Given the description of an element on the screen output the (x, y) to click on. 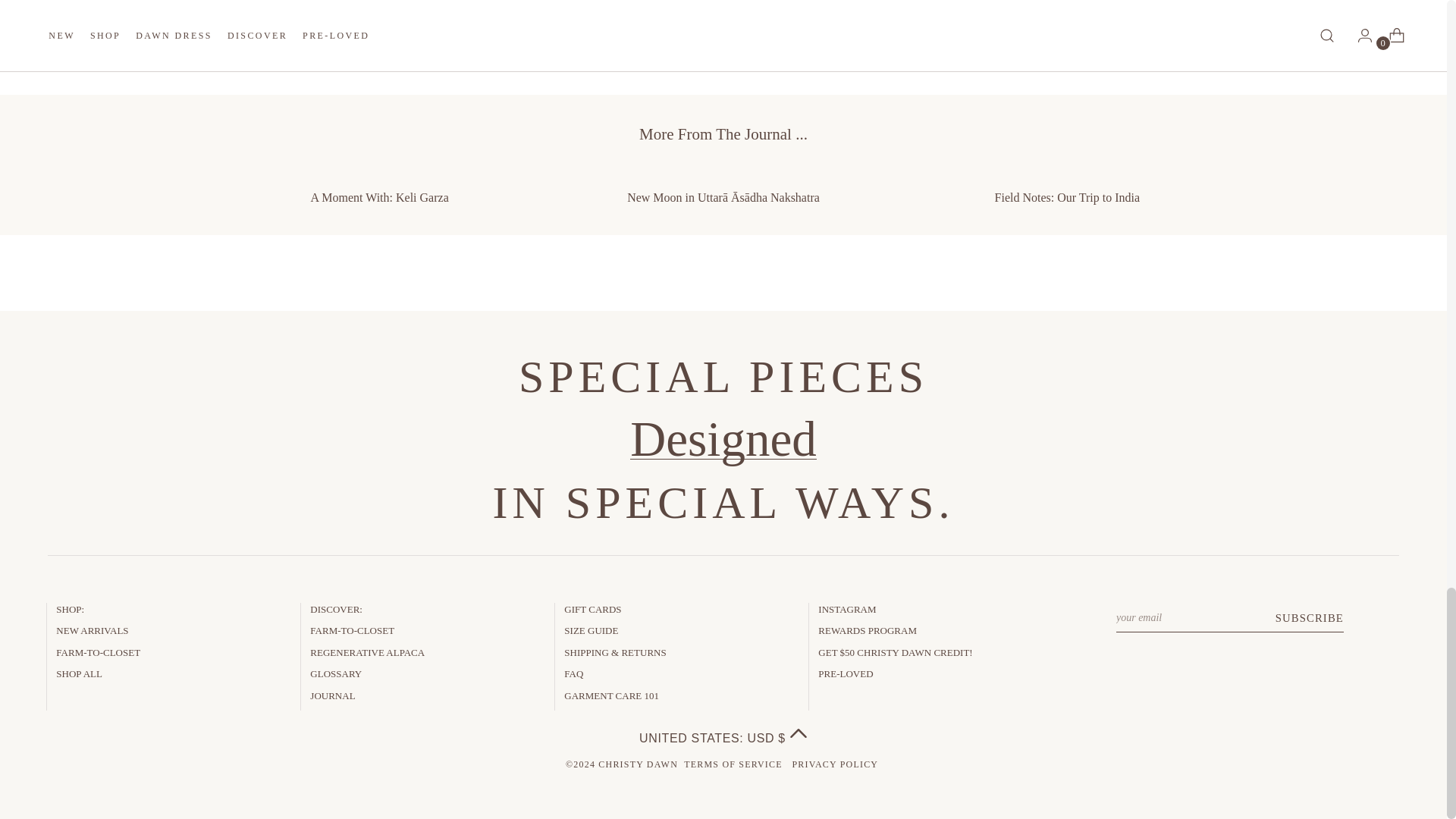
Field Notes: Our Trip to India (1067, 186)
A Moment With: Keli Garza (378, 186)
